Given the description of an element on the screen output the (x, y) to click on. 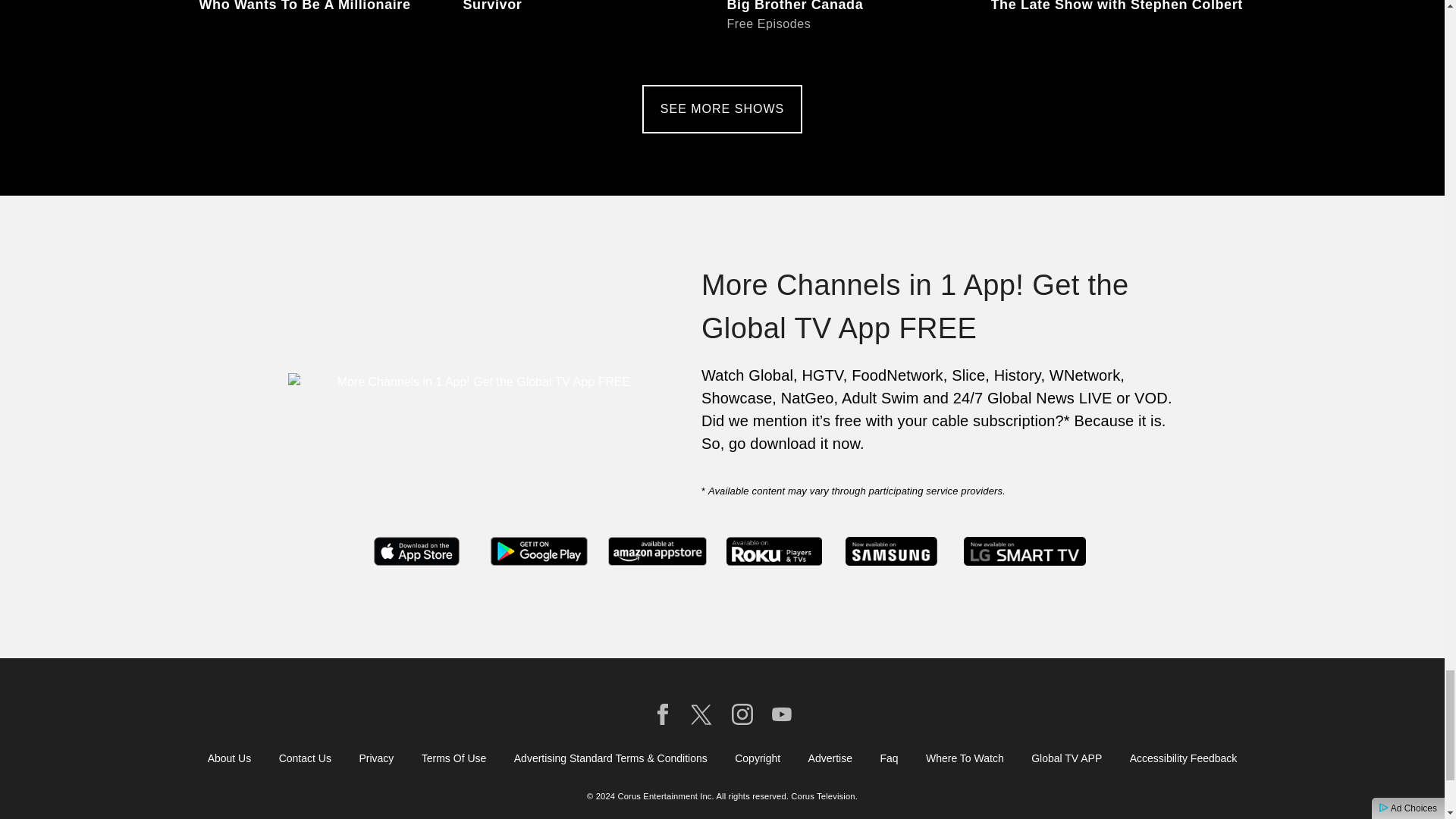
The Late Show with Stephen Colbert (1117, 29)
Survivor (590, 29)
Who Wants To Be A Millionaire (853, 29)
SEE MORE SHOWS (325, 29)
